Given the description of an element on the screen output the (x, y) to click on. 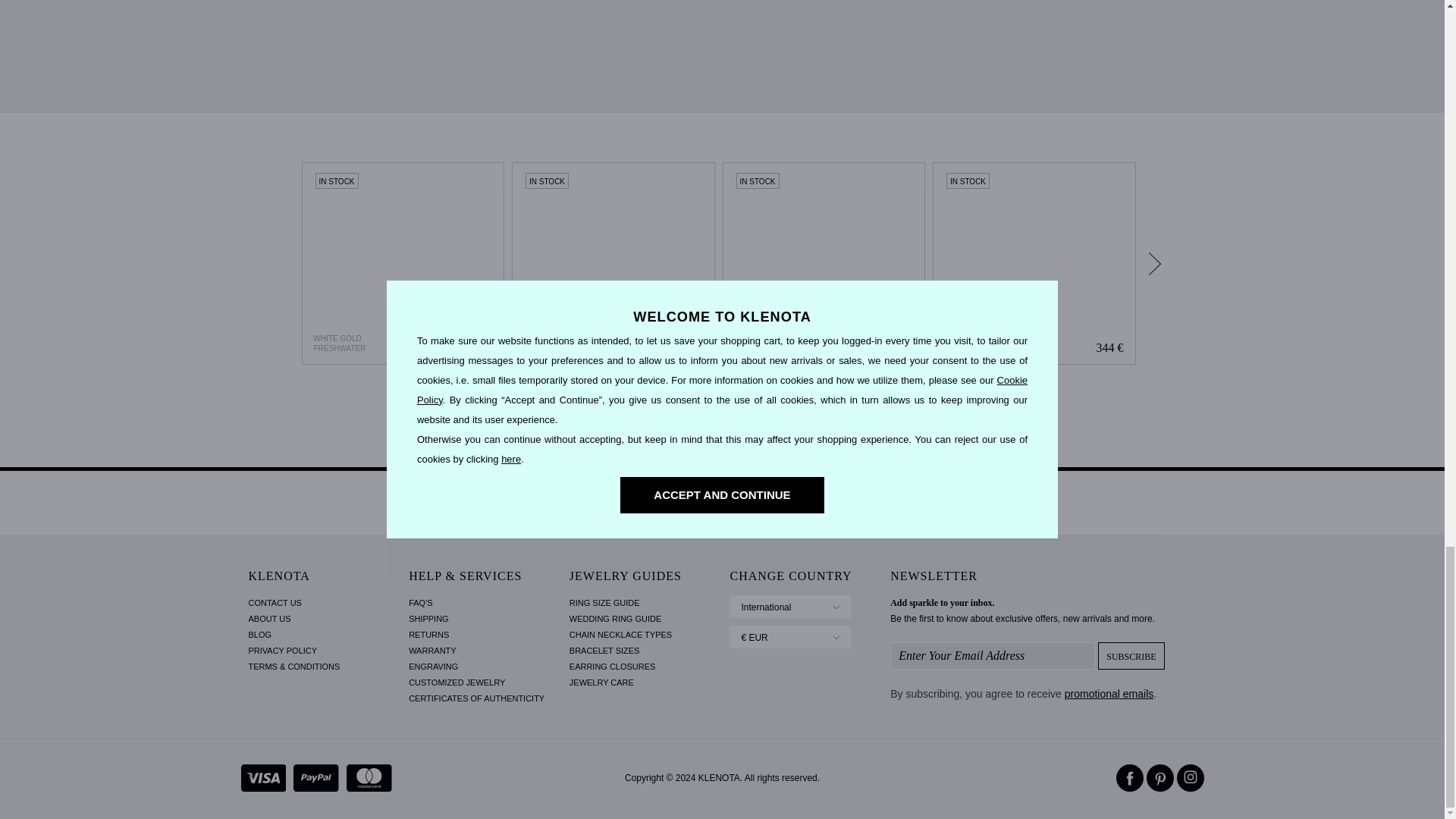
White Pearl Chain Bracelet in Yellow Gold (1034, 263)
Facebook (1129, 777)
Instagram (1190, 777)
Pearl Bracelet with White Gold Fastening (403, 263)
Pearl Bracelet with White Gold Fastening (402, 263)
Pearl Bracelet in Rose Gold (823, 263)
Black Spinel and Pearl Gold Bracelet (613, 263)
Pinterest (1160, 777)
White Pearl Chain Bracelet in Yellow Gold (1034, 263)
Black Spinel and Pearl Gold Bracelet (613, 263)
Pearl Bracelet in Rose Gold (823, 263)
